Given the description of an element on the screen output the (x, y) to click on. 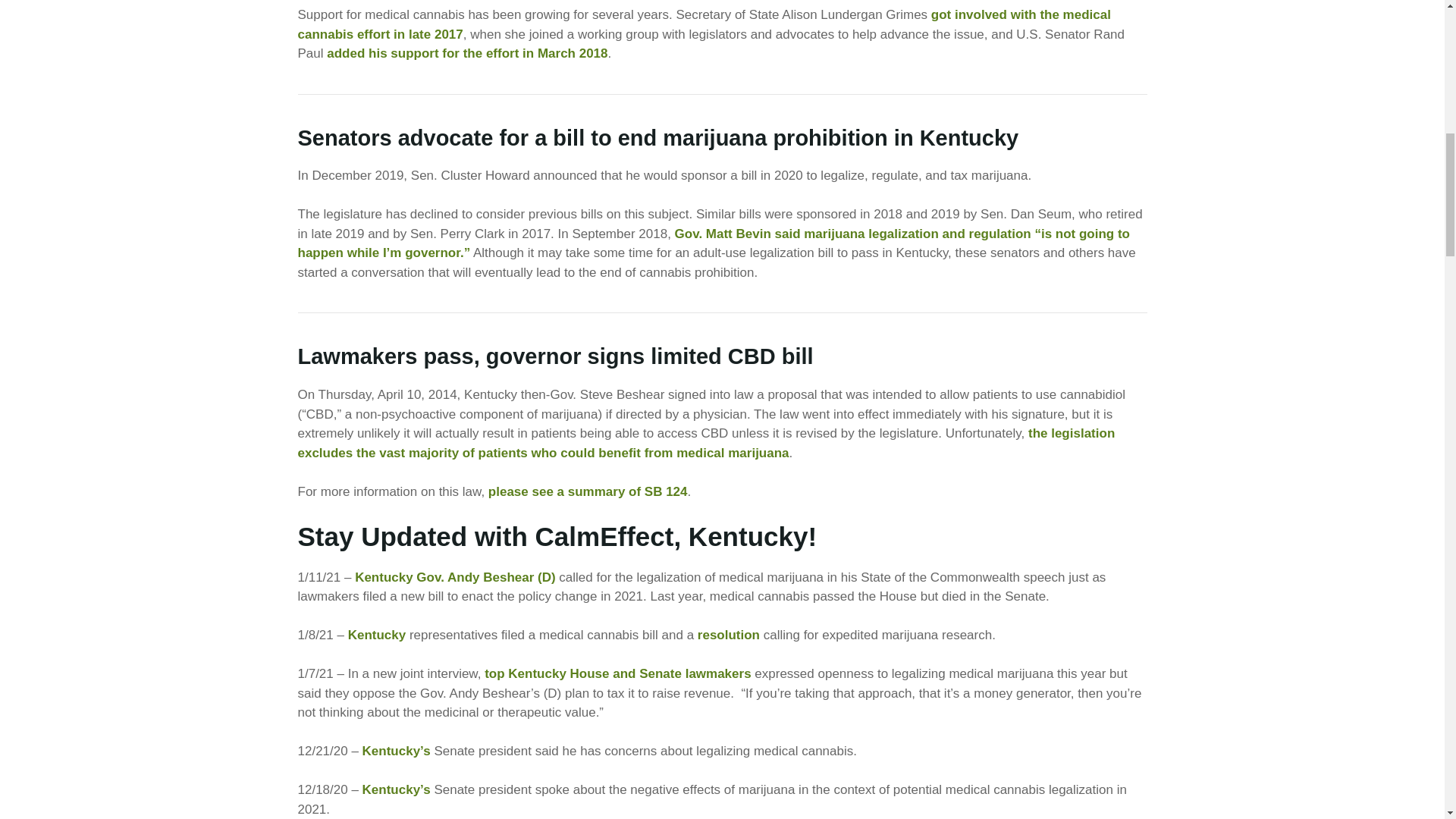
top Kentucky House and Senate lawmakers (617, 673)
added his support for the effort in March 2018 (466, 52)
got involved with the medical cannabis effort in late 2017 (703, 24)
Kentucky (376, 635)
resolution (728, 635)
please see a summary of SB 124 (587, 491)
